Given the description of an element on the screen output the (x, y) to click on. 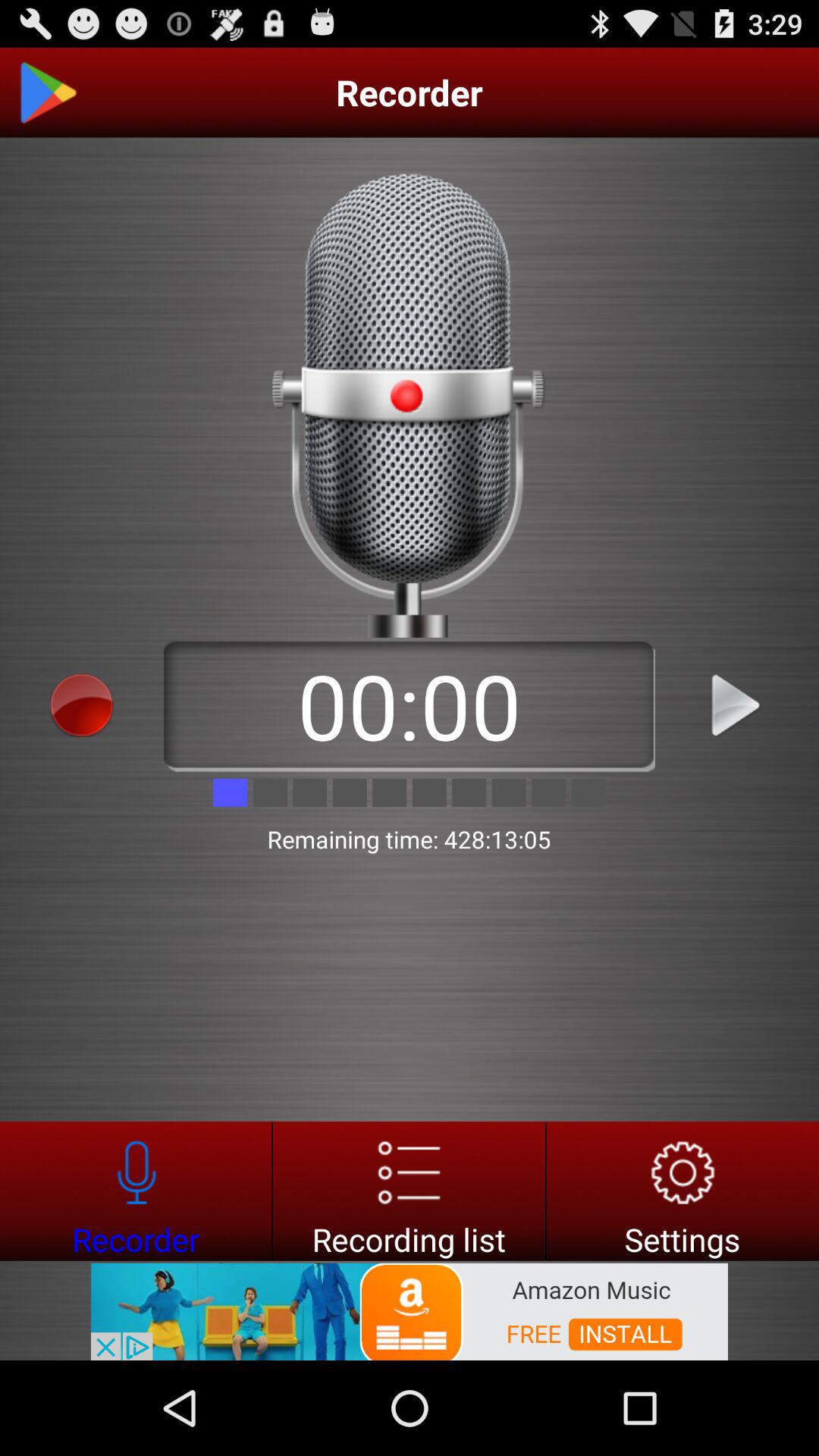
voice recorder (135, 1190)
